Given the description of an element on the screen output the (x, y) to click on. 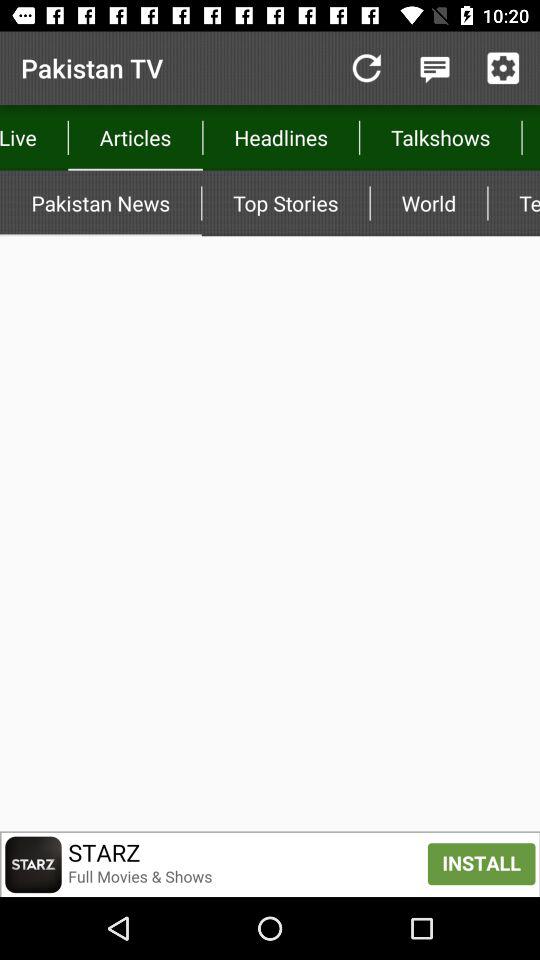
choose item to the right of the articles icon (366, 67)
